Given the description of an element on the screen output the (x, y) to click on. 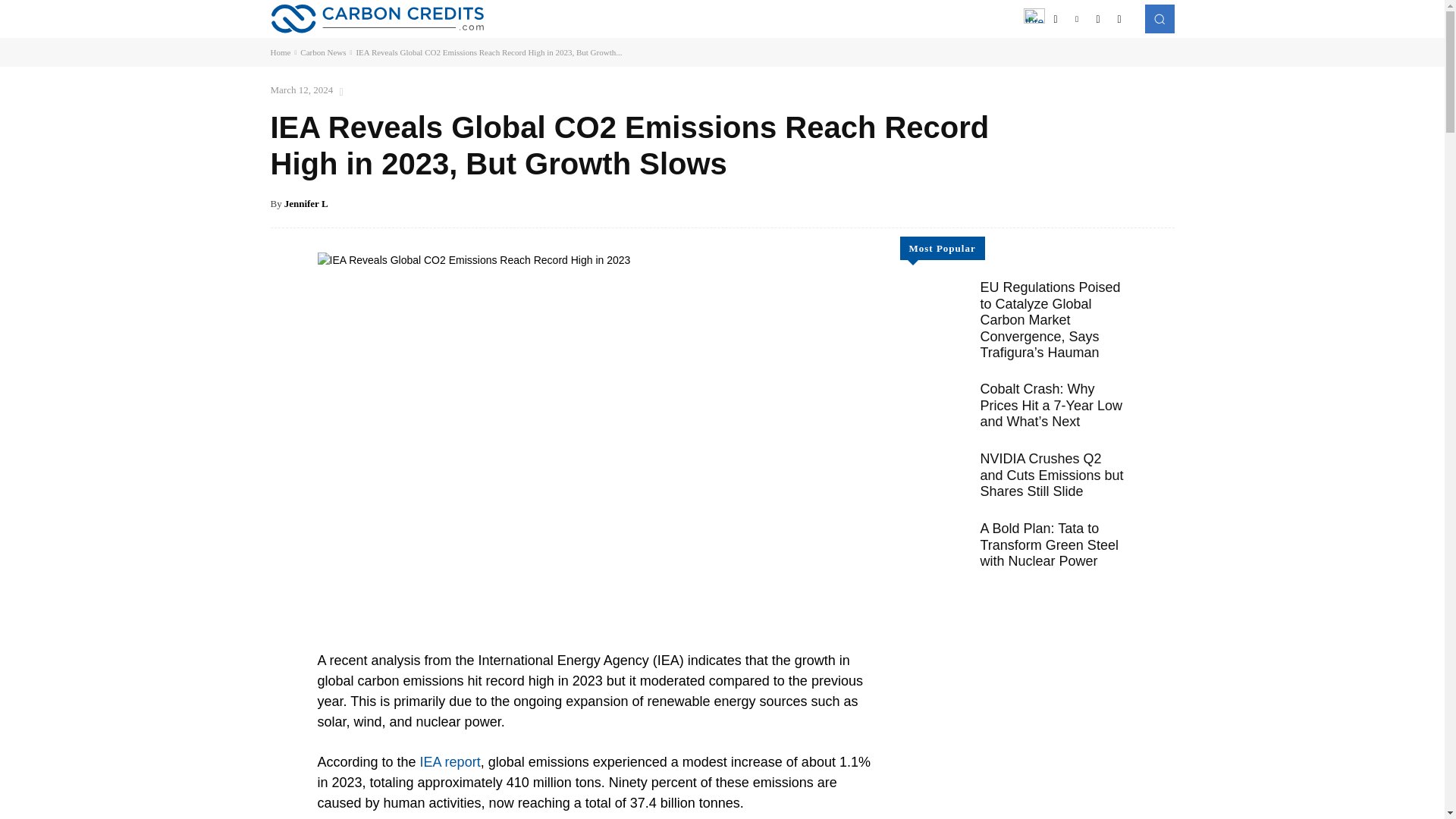
Youtube (1118, 18)
Facebook (1055, 18)
View all posts in Carbon News (322, 51)
Twitter (1097, 18)
threads (1034, 18)
Linkedin (1076, 18)
